Given the description of an element on the screen output the (x, y) to click on. 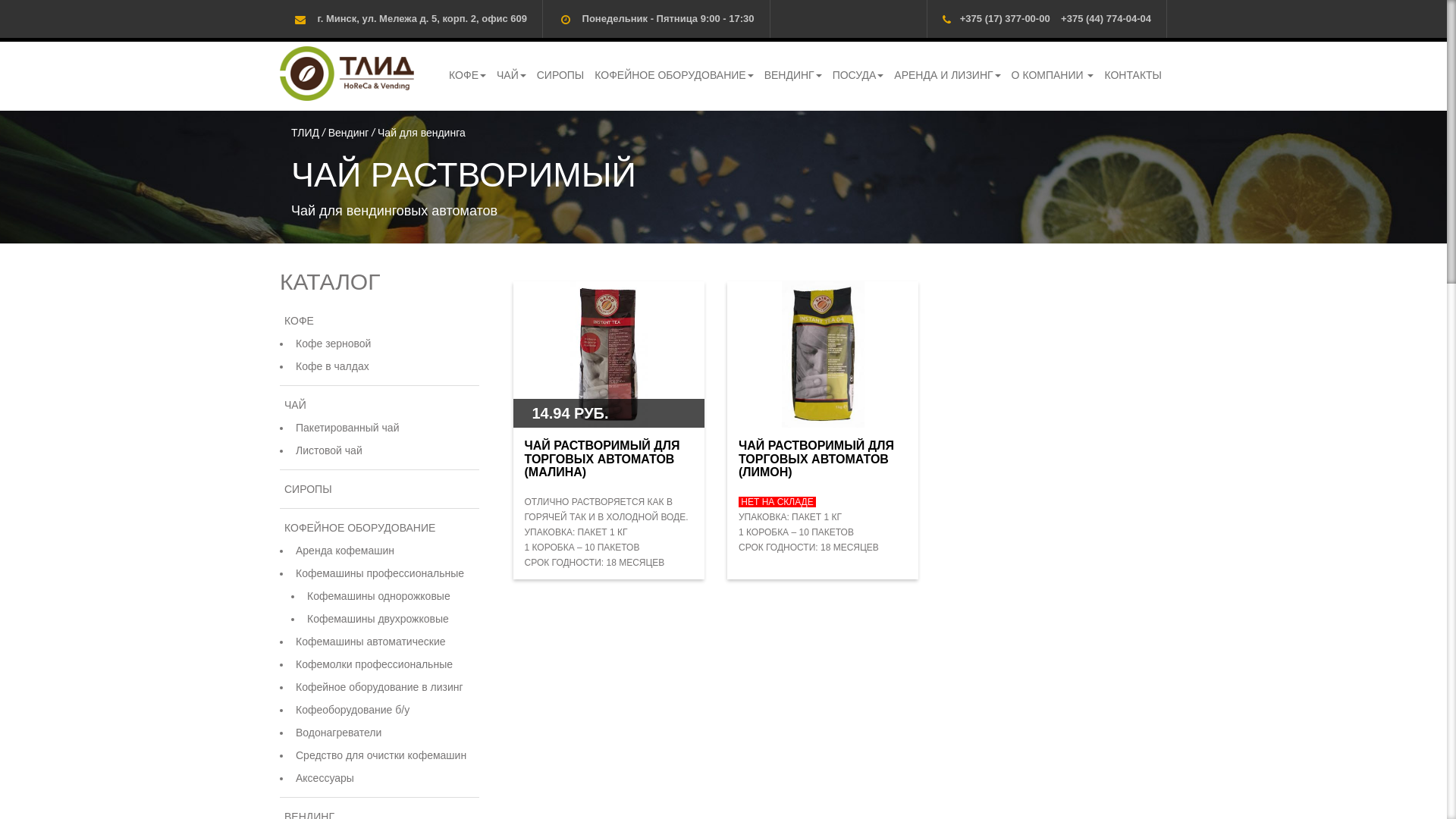
+375 (44) 774-04-04 Element type: text (1105, 18)
+375 (17) 377-00-00 Element type: text (1005, 18)
